Given the description of an element on the screen output the (x, y) to click on. 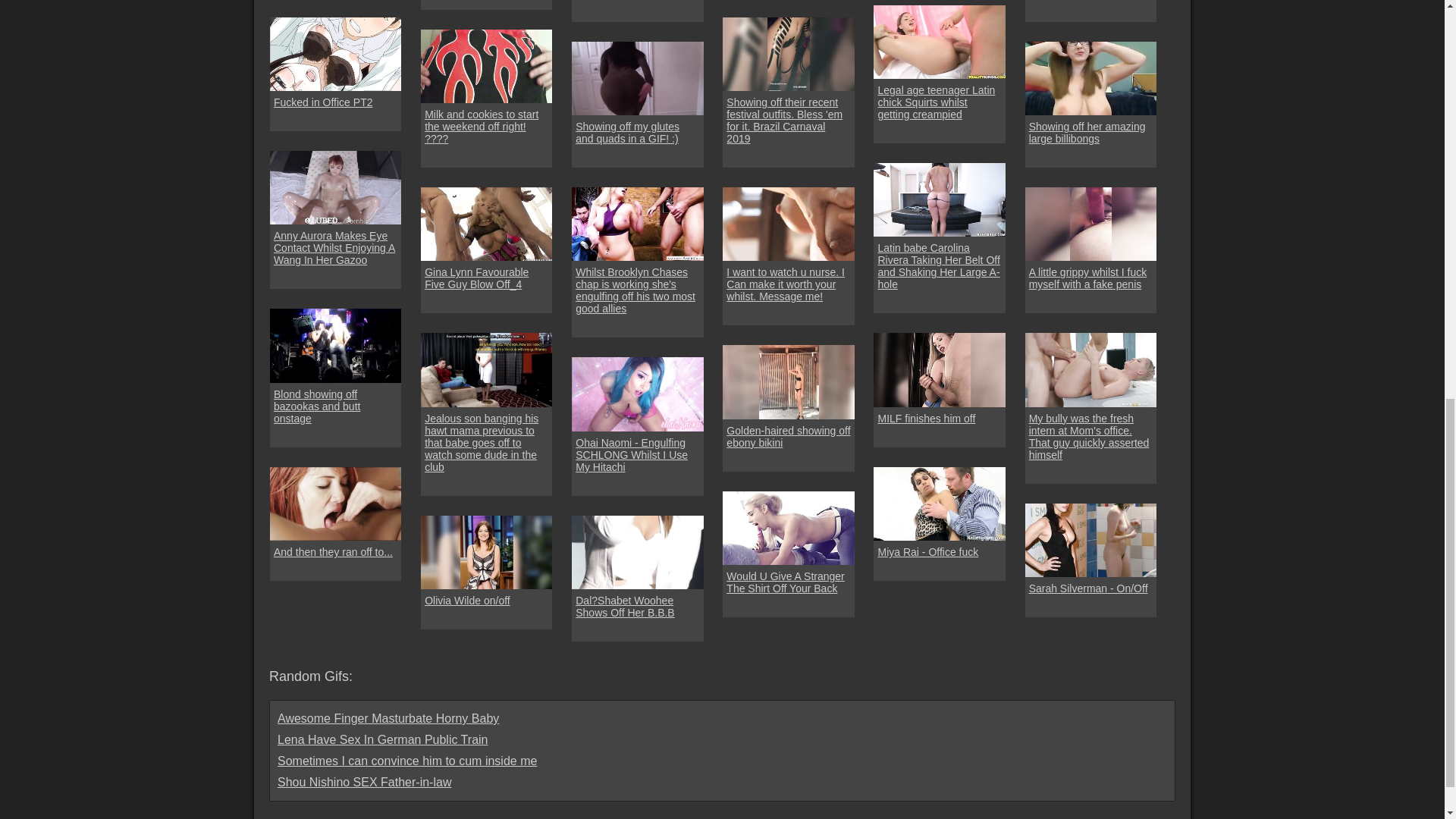
Fucked in Office PT2 (322, 102)
Showing off her amazing large billibongs (1091, 132)
Milk and cookies to start the weekend off right! ???? (486, 126)
